Given the description of an element on the screen output the (x, y) to click on. 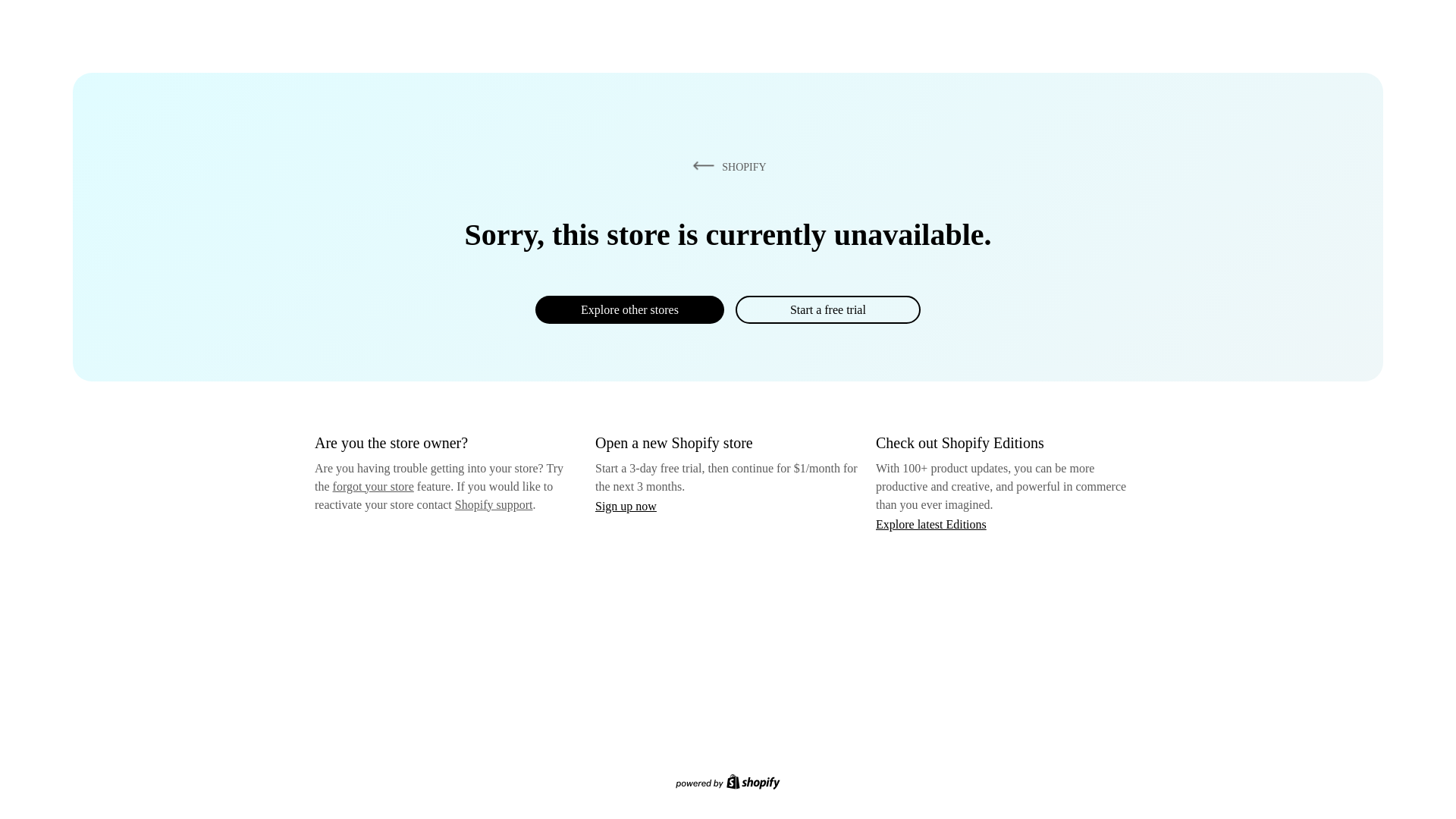
forgot your store (373, 486)
Explore other stores (629, 309)
Shopify support (493, 504)
Start a free trial (827, 309)
Sign up now (625, 505)
SHOPIFY (726, 166)
Explore latest Editions (931, 523)
